Given the description of an element on the screen output the (x, y) to click on. 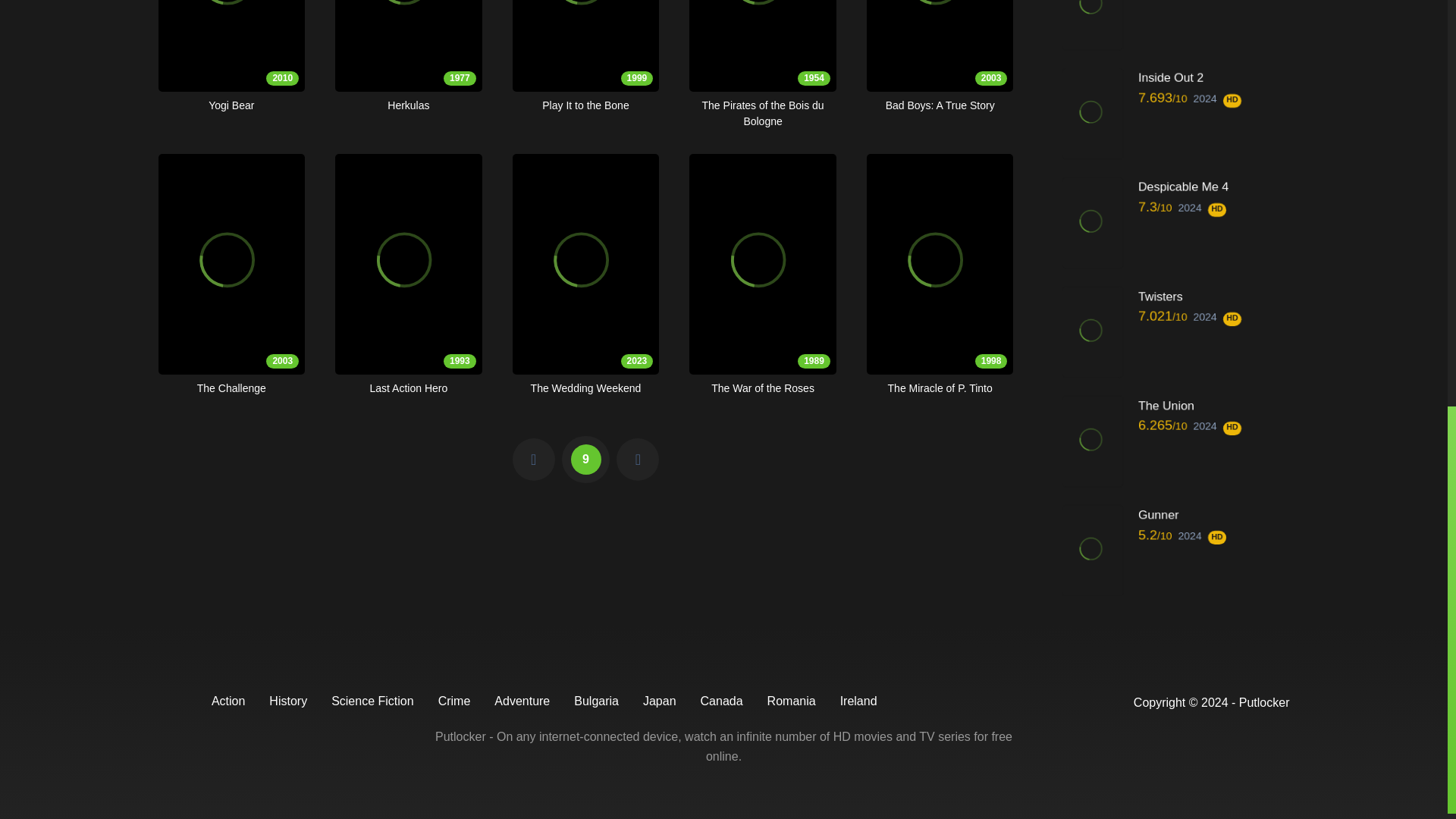
9 (407, 56)
